Given the description of an element on the screen output the (x, y) to click on. 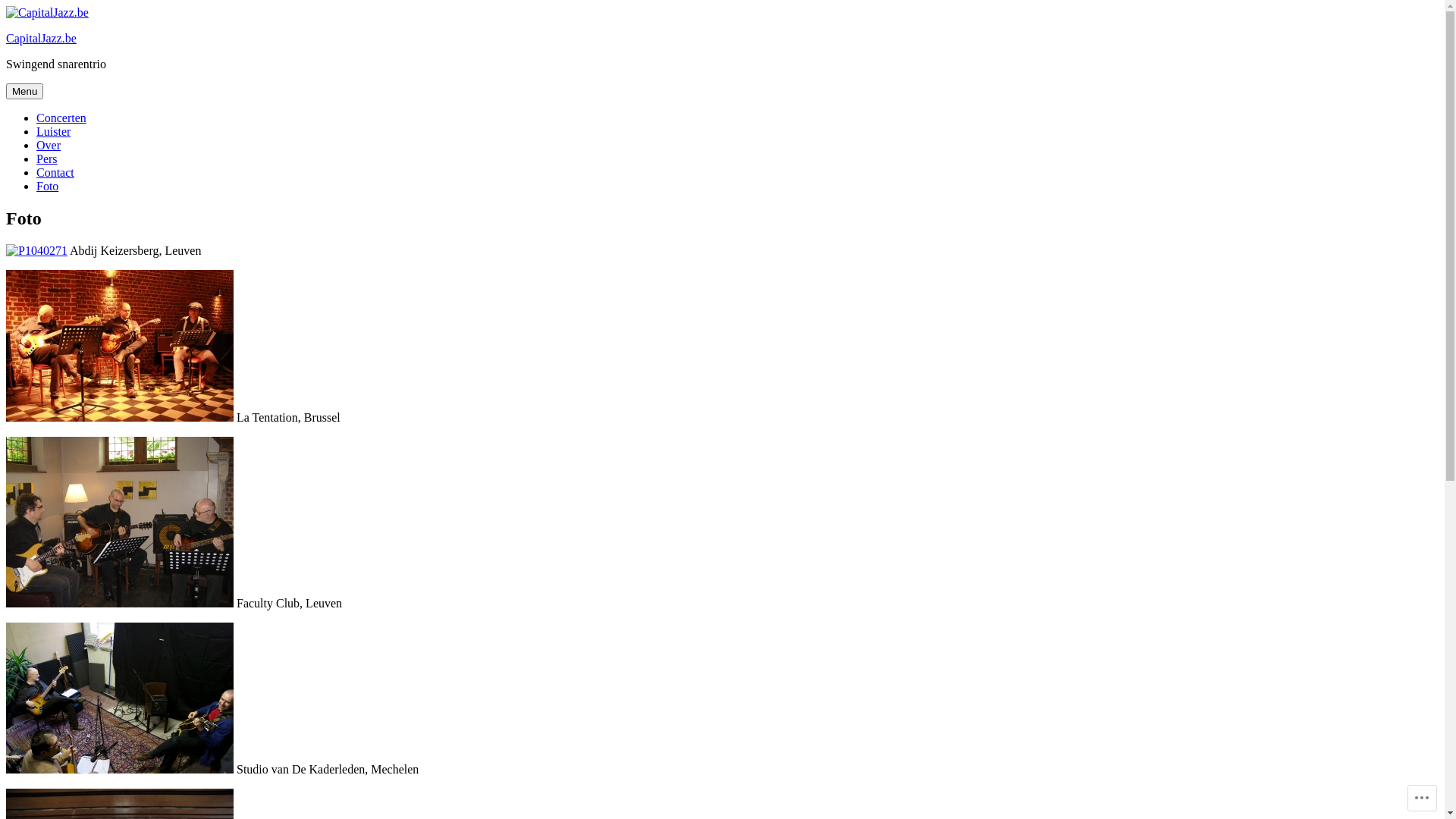
Over Element type: text (48, 144)
Foto Element type: text (47, 185)
Contact Element type: text (55, 172)
Concerten Element type: text (61, 117)
Luister Element type: text (53, 131)
CapitalJazz.be Element type: text (41, 37)
Menu Element type: text (24, 91)
Pers Element type: text (46, 158)
